Given the description of an element on the screen output the (x, y) to click on. 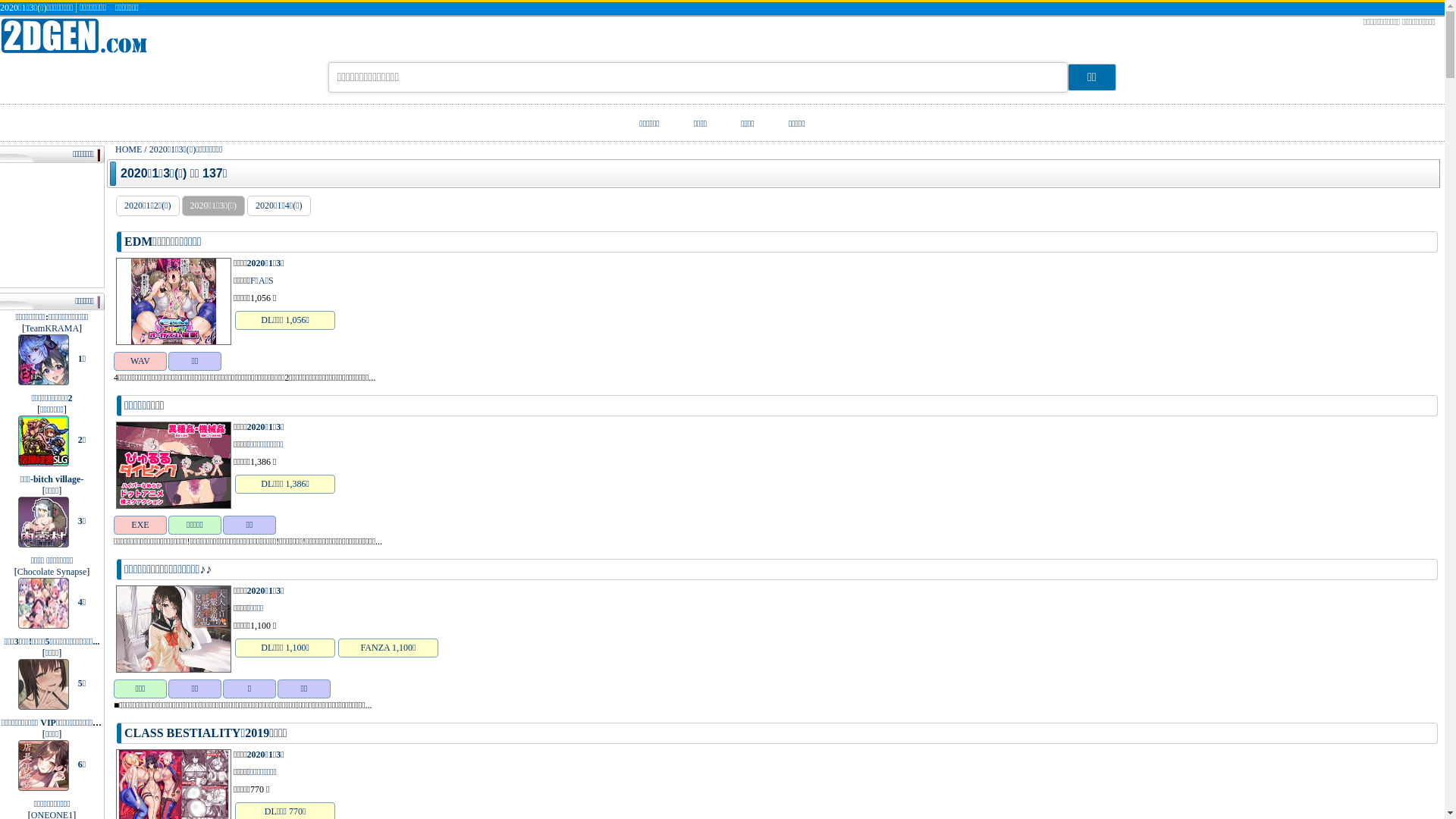
Chocolate Synapse Element type: text (52, 571)
EXE Element type: text (139, 524)
HOME Element type: text (128, 149)
TeamKRAMA Element type: text (51, 328)
WAV Element type: text (139, 360)
